Given the description of an element on the screen output the (x, y) to click on. 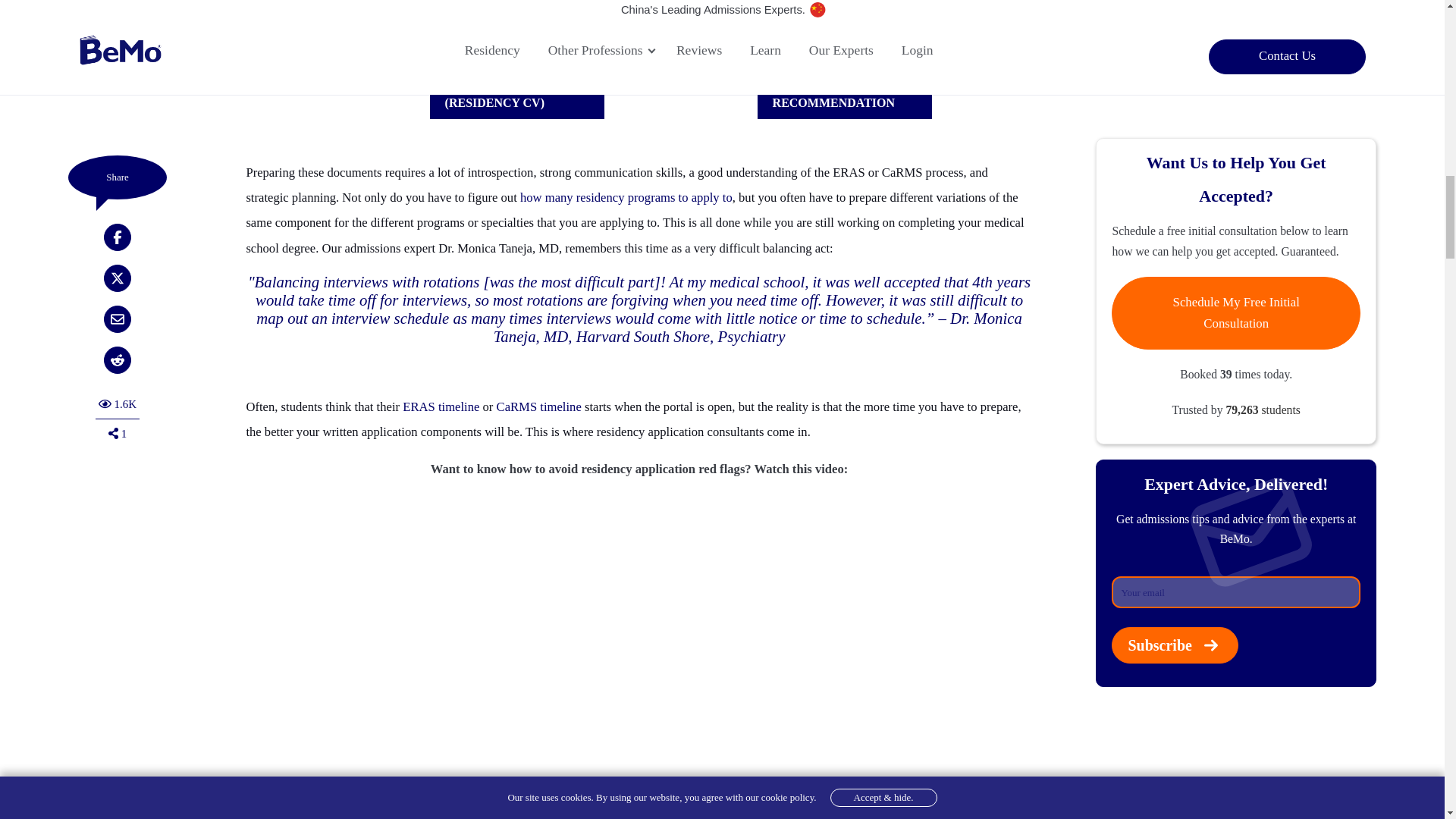
how many residency programs to apply to (625, 197)
ERAS timeline (441, 406)
